Given the description of an element on the screen output the (x, y) to click on. 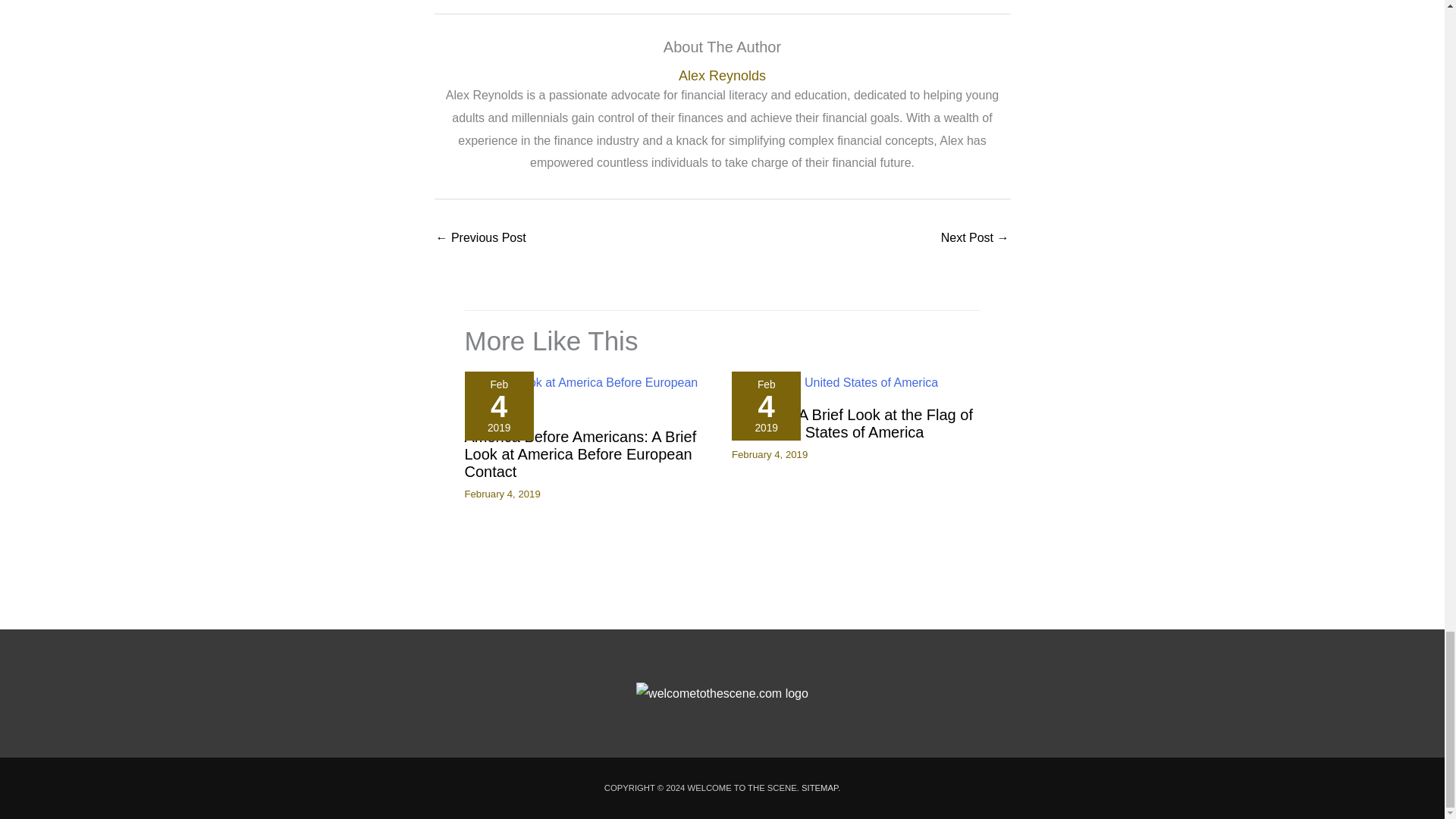
Building Your Own Logistics Division: What You'll Need (974, 239)
SITEMAP (820, 787)
How Vision Benefits Contribute to Employee Satisfaction (480, 239)
Alex Reynolds (721, 75)
